Given the description of an element on the screen output the (x, y) to click on. 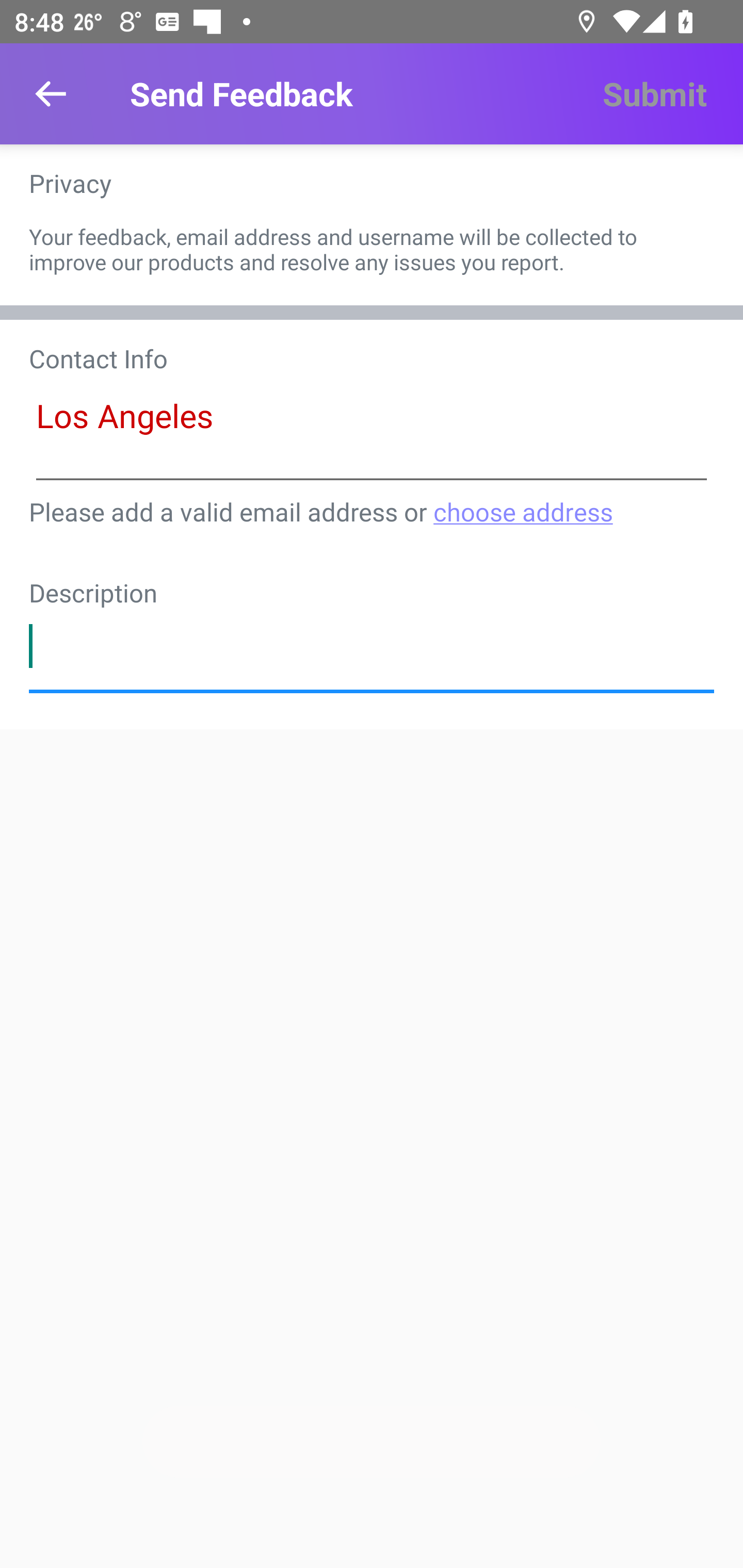
Navigate up (50, 93)
Submit (654, 94)
Los Angeles
 (371, 433)
choose address (522, 510)
feedback (371, 645)
